Given the description of an element on the screen output the (x, y) to click on. 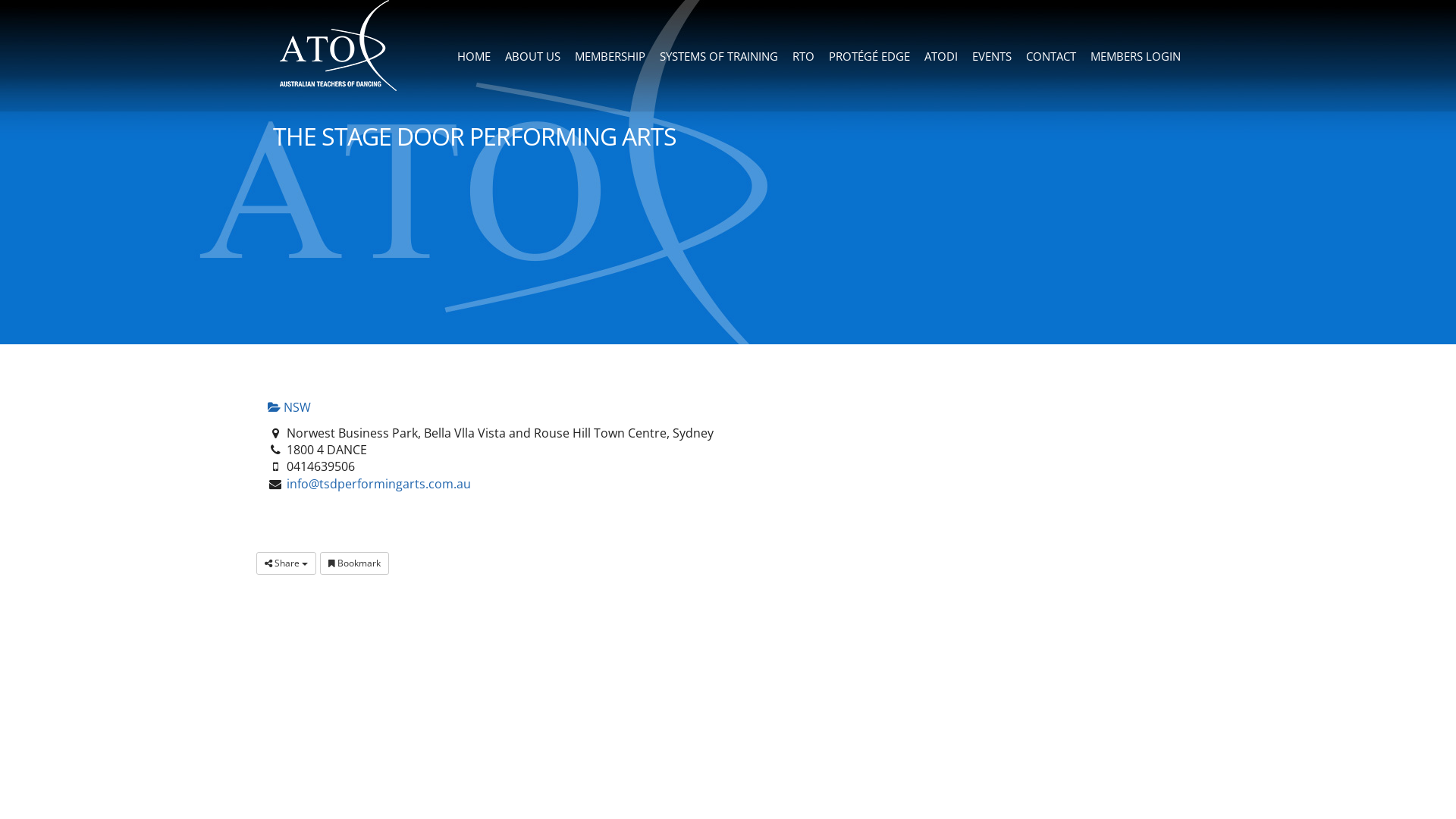
CONTACT Element type: text (1050, 55)
MEMBERS LOGIN Element type: text (1135, 55)
info@tsdperformingarts.com.au Element type: text (378, 483)
NSW Element type: text (288, 406)
ABOUT US Element type: text (531, 55)
Share Element type: text (286, 563)
SYSTEMS OF TRAINING Element type: text (718, 55)
EVENTS Element type: text (991, 55)
HOME Element type: text (473, 55)
RTO Element type: text (802, 55)
Bookmark Element type: text (354, 563)
MEMBERSHIP Element type: text (609, 55)
ATODI Element type: text (940, 55)
